Given the description of an element on the screen output the (x, y) to click on. 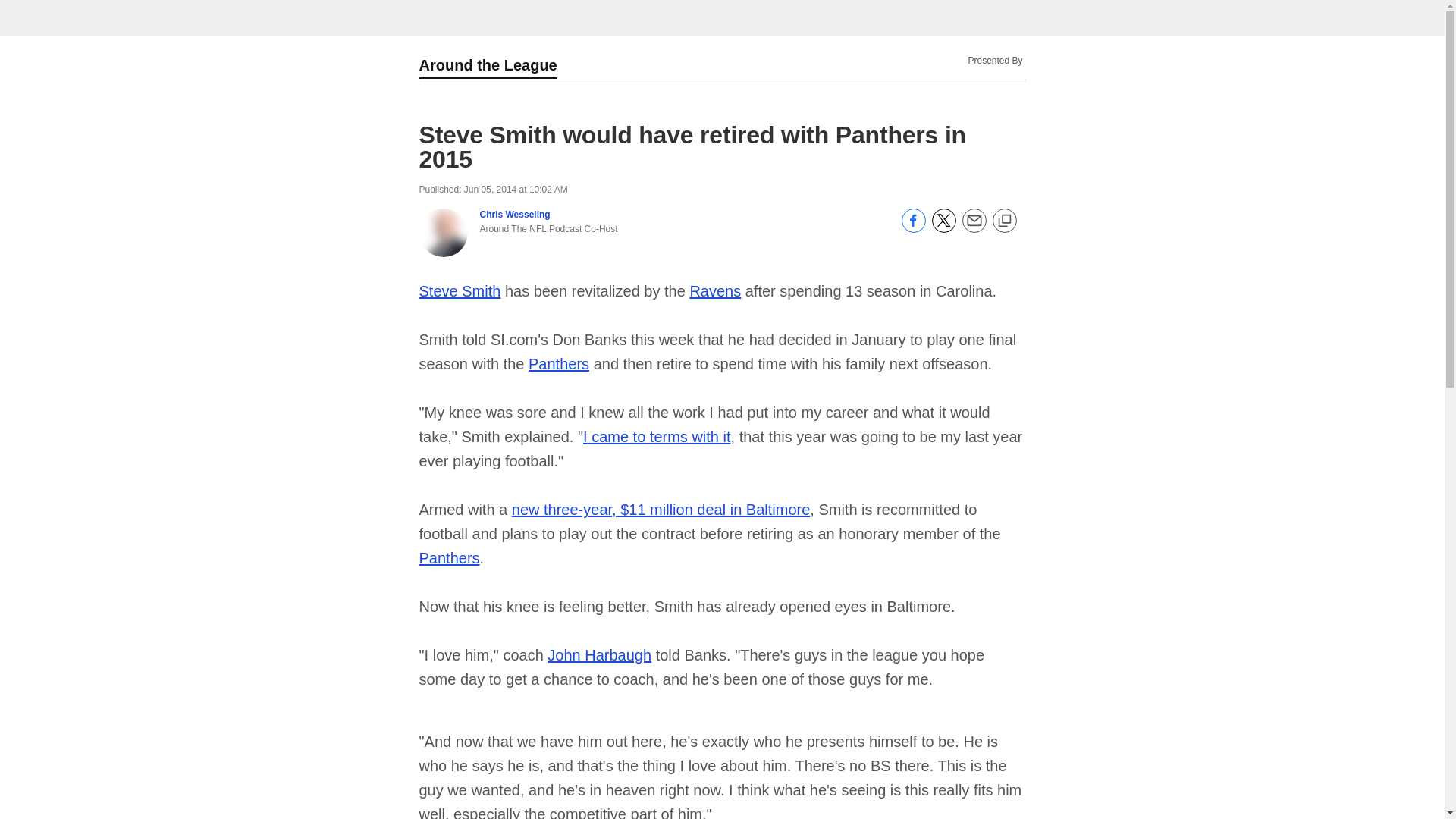
John Harbaugh (598, 655)
Copy link (1003, 221)
Share on Facebook (912, 228)
Panthers (449, 557)
Send email (972, 228)
Steve Smith (459, 290)
I came to terms with it (656, 436)
Ravens (714, 290)
Share on Twitter (943, 228)
Panthers (558, 363)
